Given the description of an element on the screen output the (x, y) to click on. 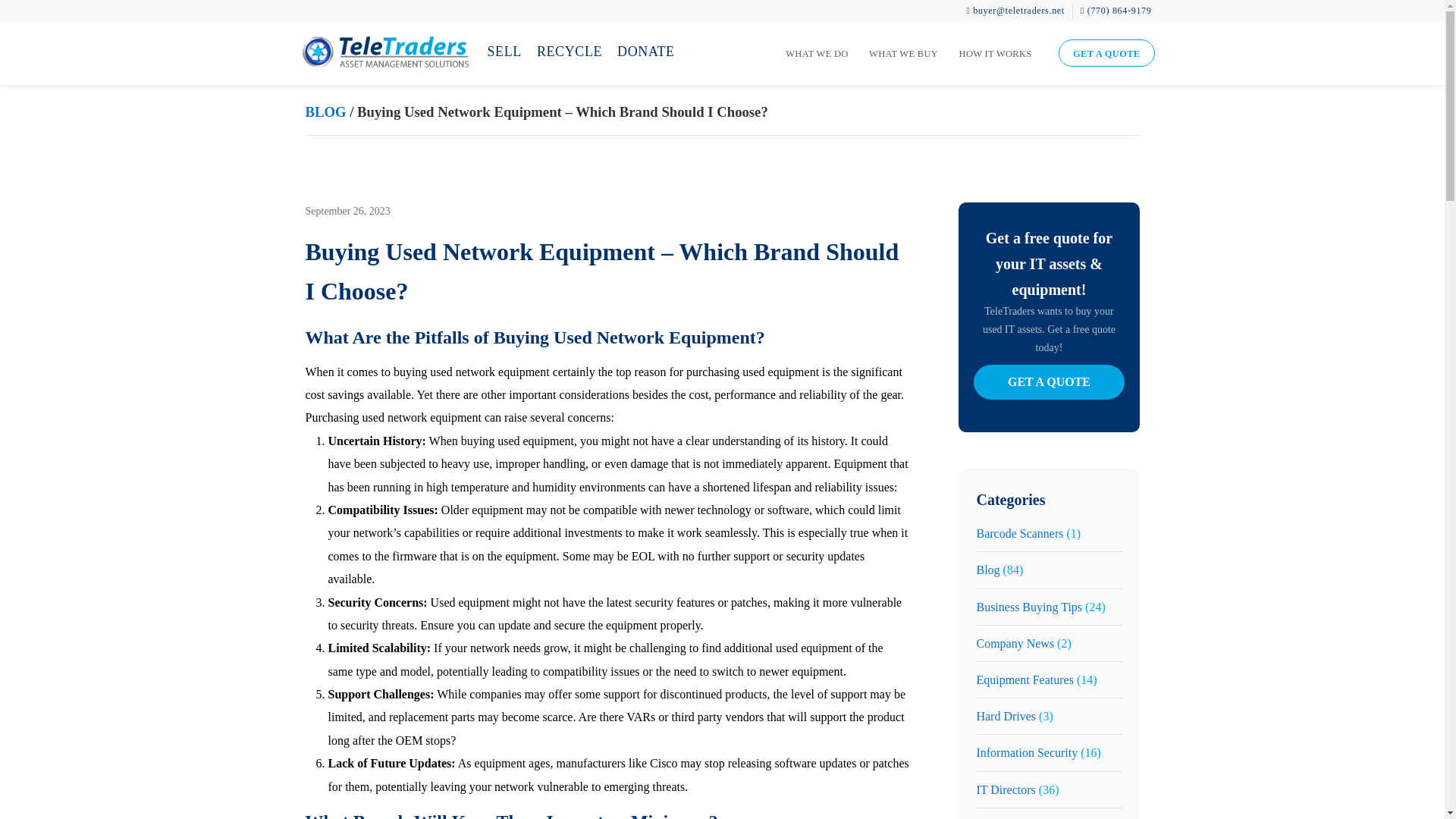
Business Buying Tips (1028, 606)
Hard Drives (1005, 716)
SELL (503, 51)
GET A QUOTE (1106, 52)
Equipment Features (1024, 679)
Barcode Scanners (1018, 533)
WHAT WE BUY (903, 54)
Company News (1014, 643)
DONATE (646, 51)
BLOG (325, 111)
WHAT WE DO (816, 54)
Information Security (1026, 752)
IT Directors (1005, 789)
TeleTraders (384, 56)
